Given the description of an element on the screen output the (x, y) to click on. 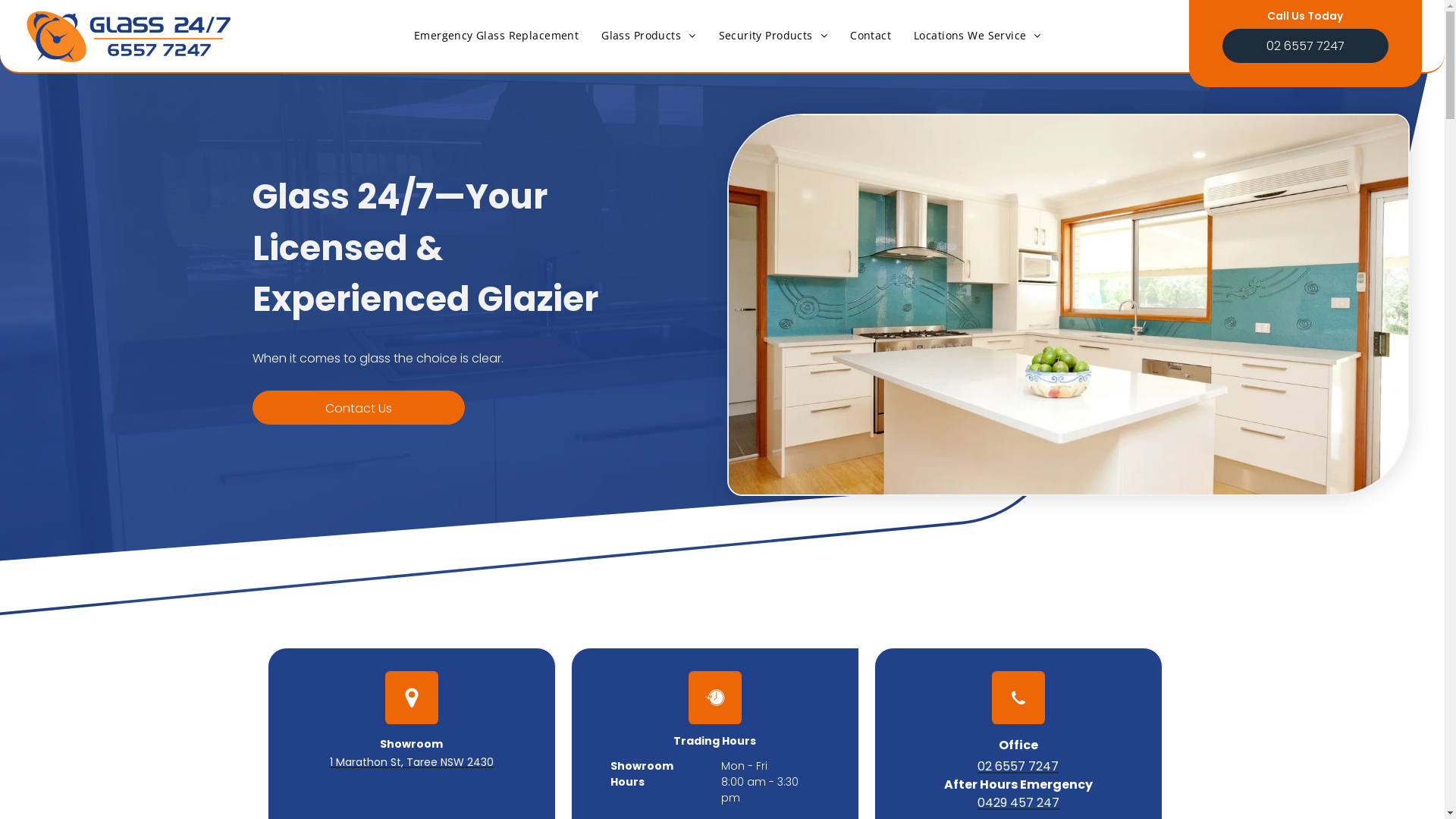
1 Marathon St, Taree NSW 2430 Element type: text (410, 761)
02 6557 7247 Element type: text (1017, 766)
02 6557 7247 Element type: text (1305, 45)
Location Icon Element type: hover (411, 697)
Locations We Service Element type: text (977, 35)
Phone Icon Element type: hover (1017, 697)
Contact Element type: text (870, 35)
Security Products Element type: text (773, 35)
0429 457 247 Element type: text (1017, 802)
Glass Products Element type: text (647, 35)
Email Icon Element type: hover (714, 697)
Contact Us Element type: text (357, 407)
Emergency Glass Replacement Element type: text (495, 35)
